Given the description of an element on the screen output the (x, y) to click on. 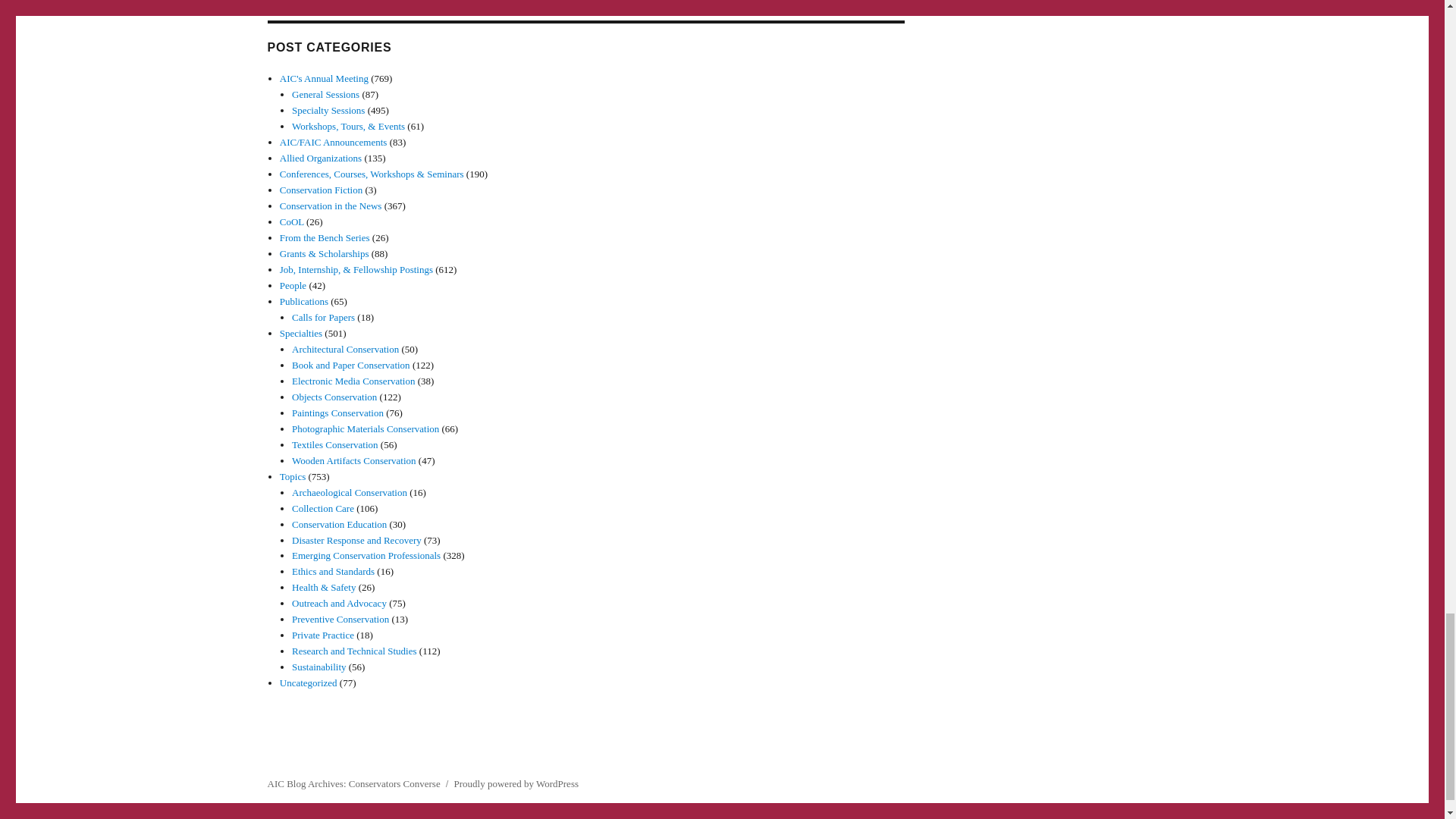
AIC's Annual Meeting (323, 78)
Photographic Materials Conservation (365, 428)
Objects Conservation (334, 396)
Book and Paper Conservation (351, 365)
Conservation Fiction (320, 189)
Paintings Conservation (338, 412)
Conservation in the News (330, 205)
Calls for Papers (323, 317)
People (292, 285)
Specialty Sessions (328, 110)
